Given the description of an element on the screen output the (x, y) to click on. 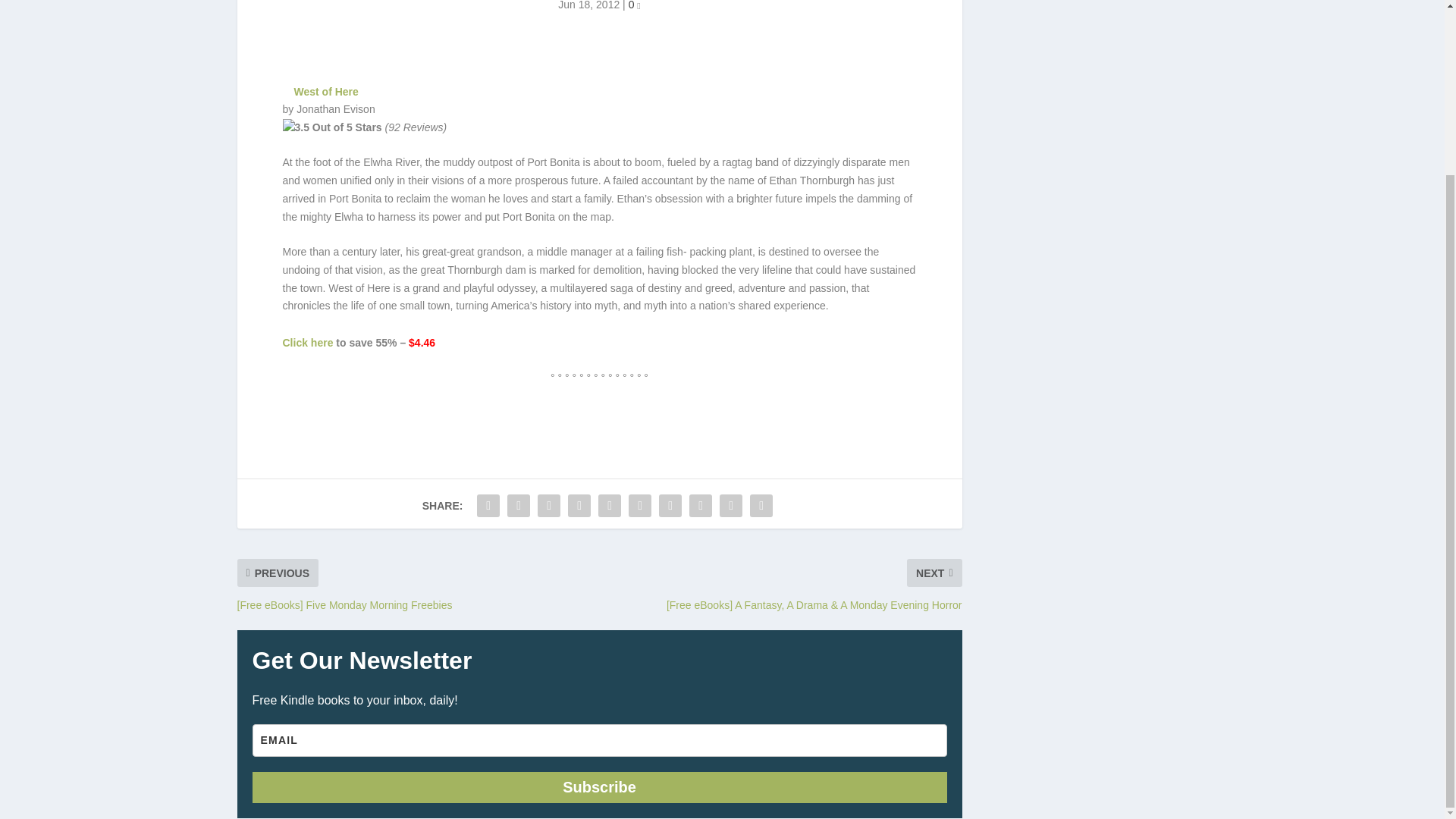
Subscribe (598, 787)
West of Here (326, 91)
0 (634, 5)
Click here (307, 342)
